Given the description of an element on the screen output the (x, y) to click on. 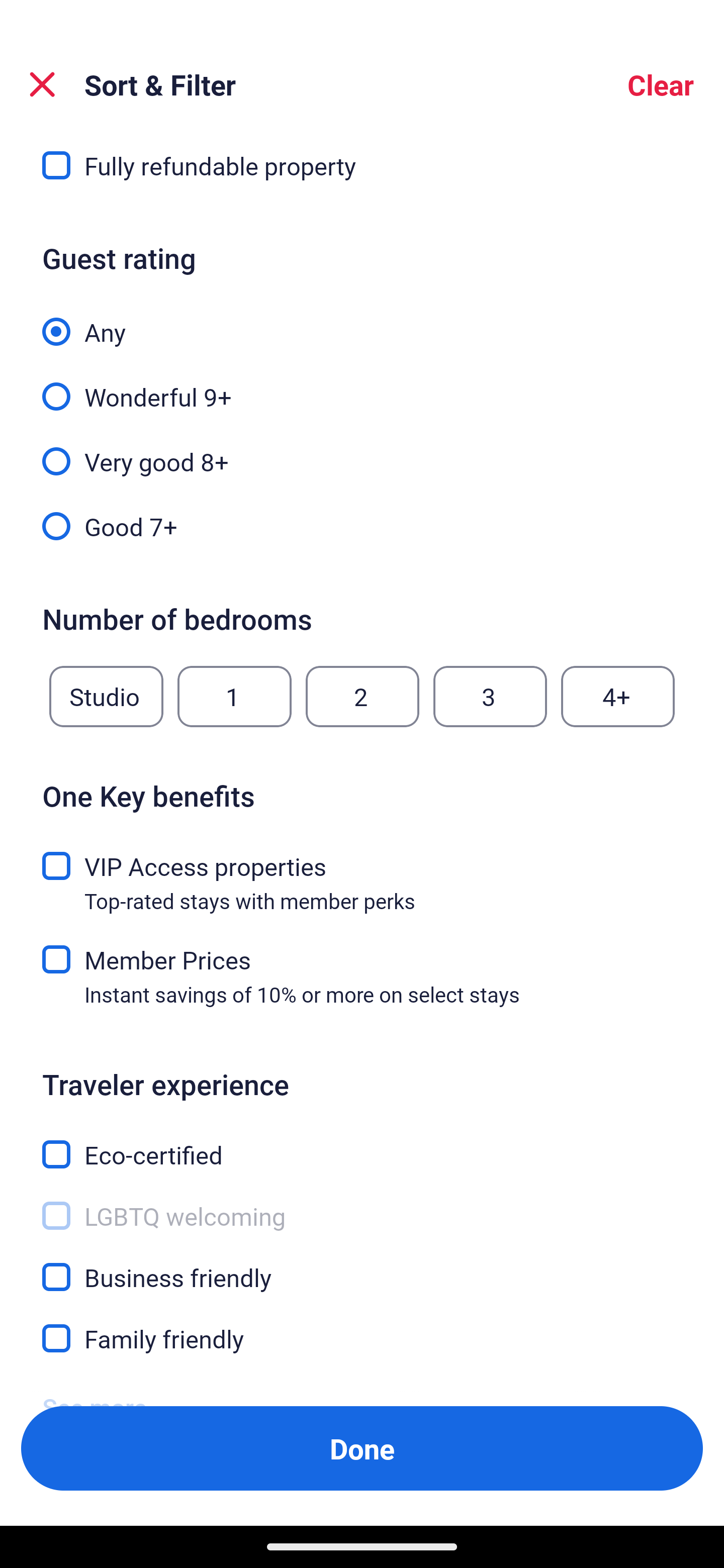
Close Sort and Filter (42, 84)
Clear (660, 84)
Wonderful 9+ (361, 385)
Very good 8+ (361, 450)
Good 7+ (361, 524)
Studio (106, 695)
1 (234, 695)
2 (362, 695)
3 (490, 695)
4+ (617, 695)
Eco-certified, Eco-certified (361, 1143)
LGBTQ welcoming, LGBTQ welcoming (361, 1204)
Business friendly, Business friendly (361, 1265)
Family friendly, Family friendly (361, 1338)
Apply and close Sort and Filter Done (361, 1448)
